Given the description of an element on the screen output the (x, y) to click on. 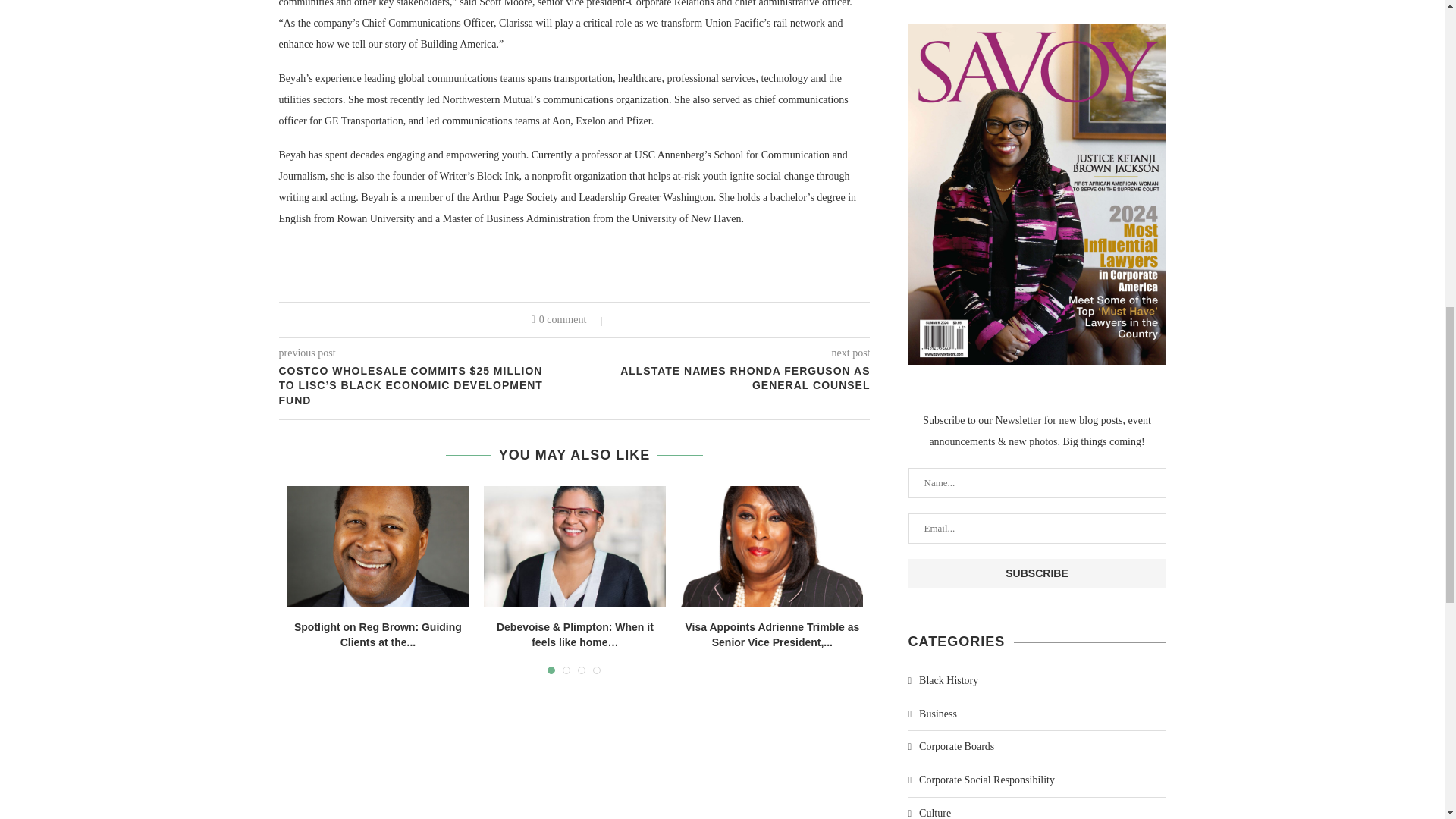
Subscribe (1037, 573)
